Given the description of an element on the screen output the (x, y) to click on. 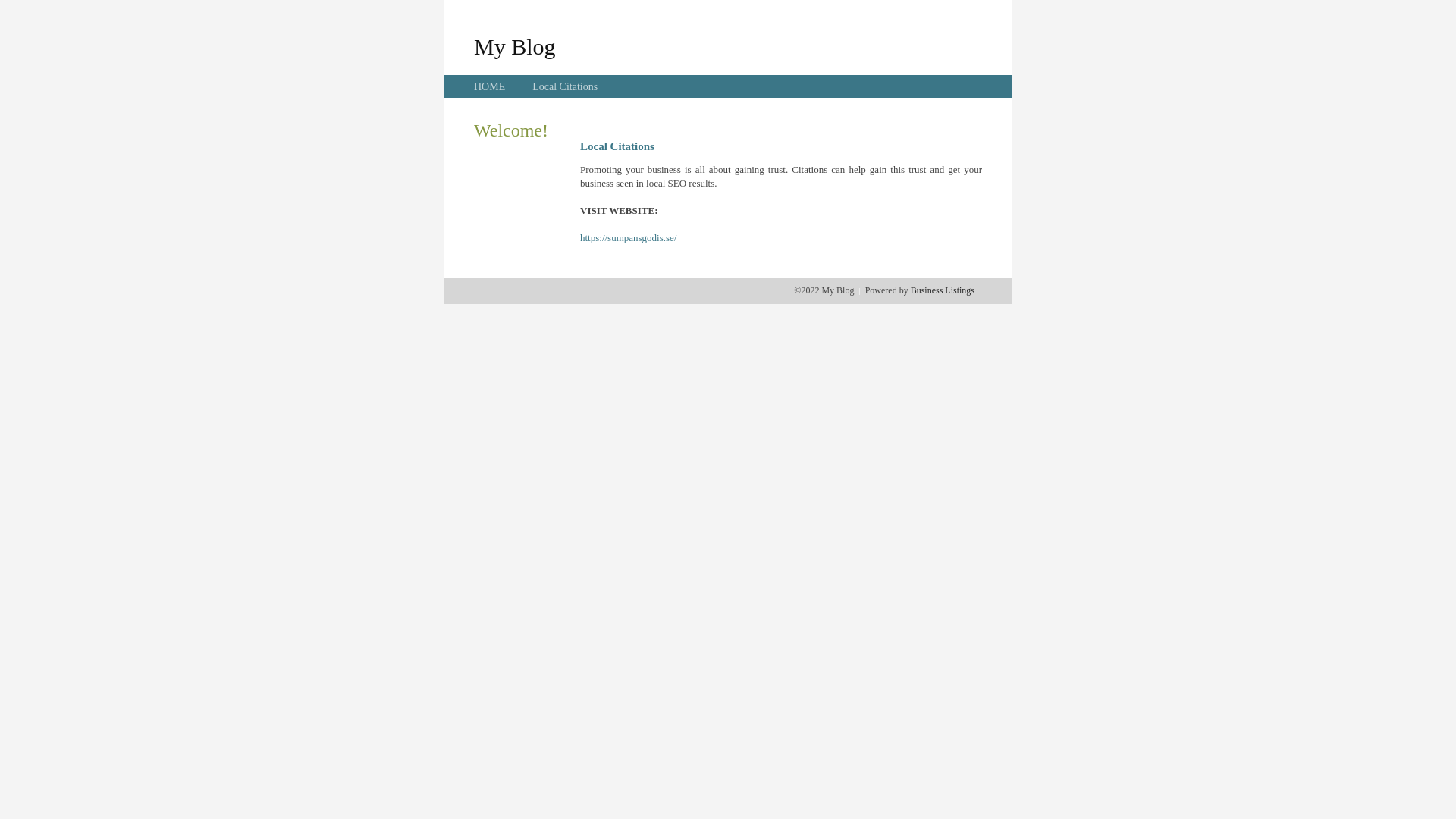
HOME Element type: text (489, 86)
https://sumpansgodis.se/ Element type: text (628, 237)
Business Listings Element type: text (942, 290)
My Blog Element type: text (514, 46)
Local Citations Element type: text (564, 86)
